Given the description of an element on the screen output the (x, y) to click on. 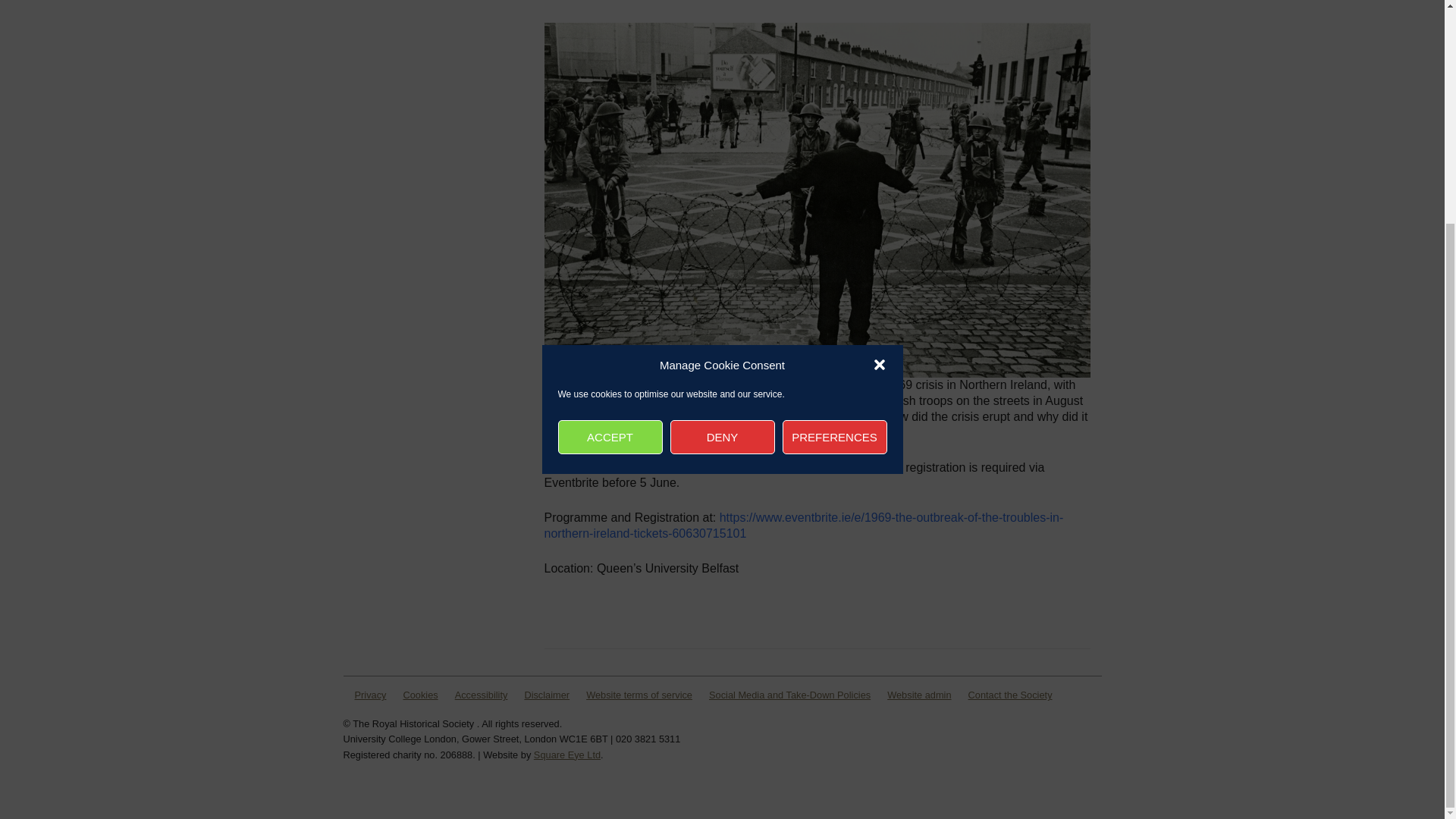
ACCEPT (609, 139)
PREFERENCES (834, 139)
DENY (721, 139)
